Given the description of an element on the screen output the (x, y) to click on. 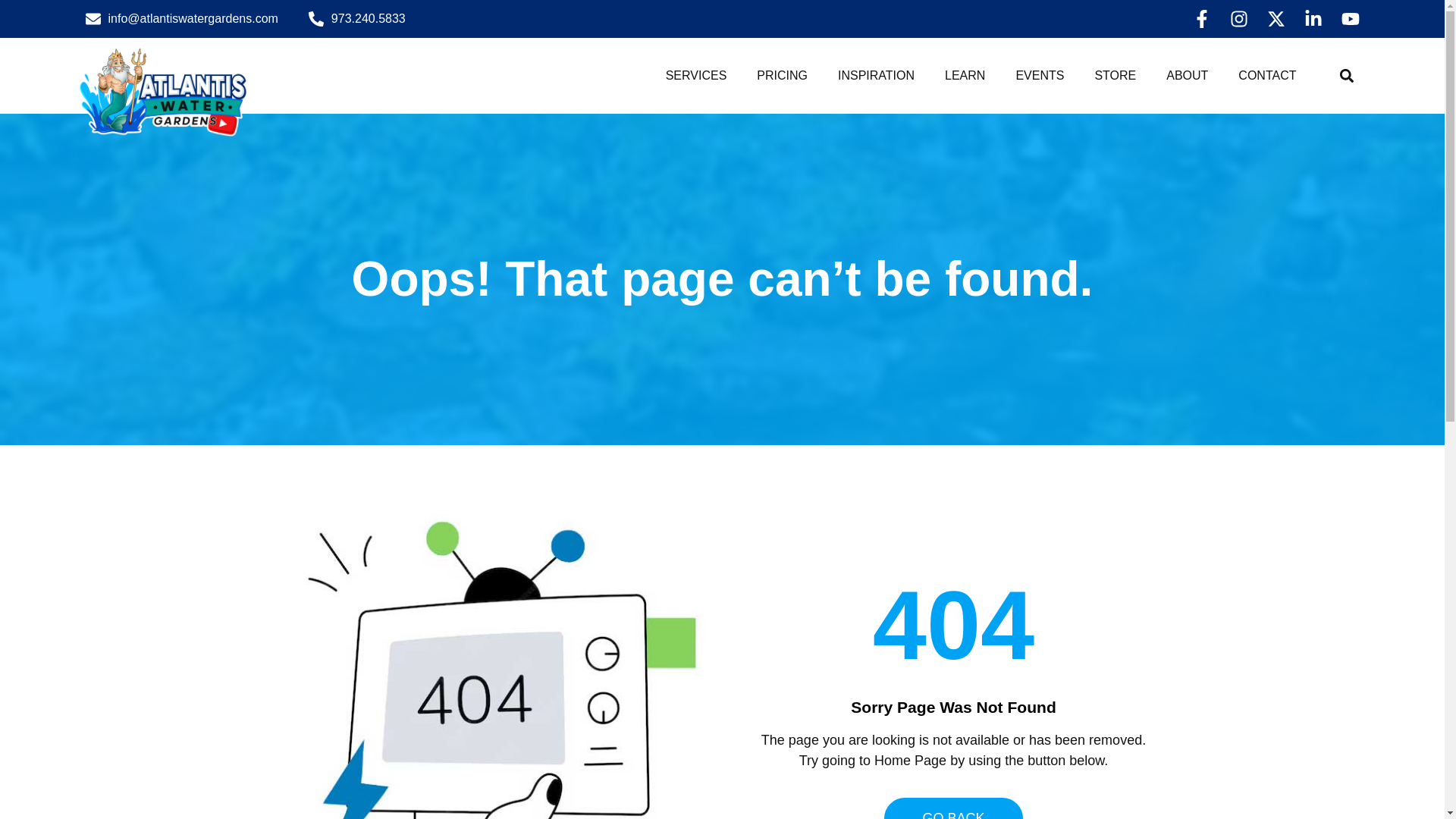
PRICING (781, 75)
EVENTS (1039, 75)
LEARN (965, 75)
973.240.5833 (357, 18)
ABOUT (1187, 75)
STORE (1114, 75)
SERVICES (696, 75)
INSPIRATION (876, 75)
